Given the description of an element on the screen output the (x, y) to click on. 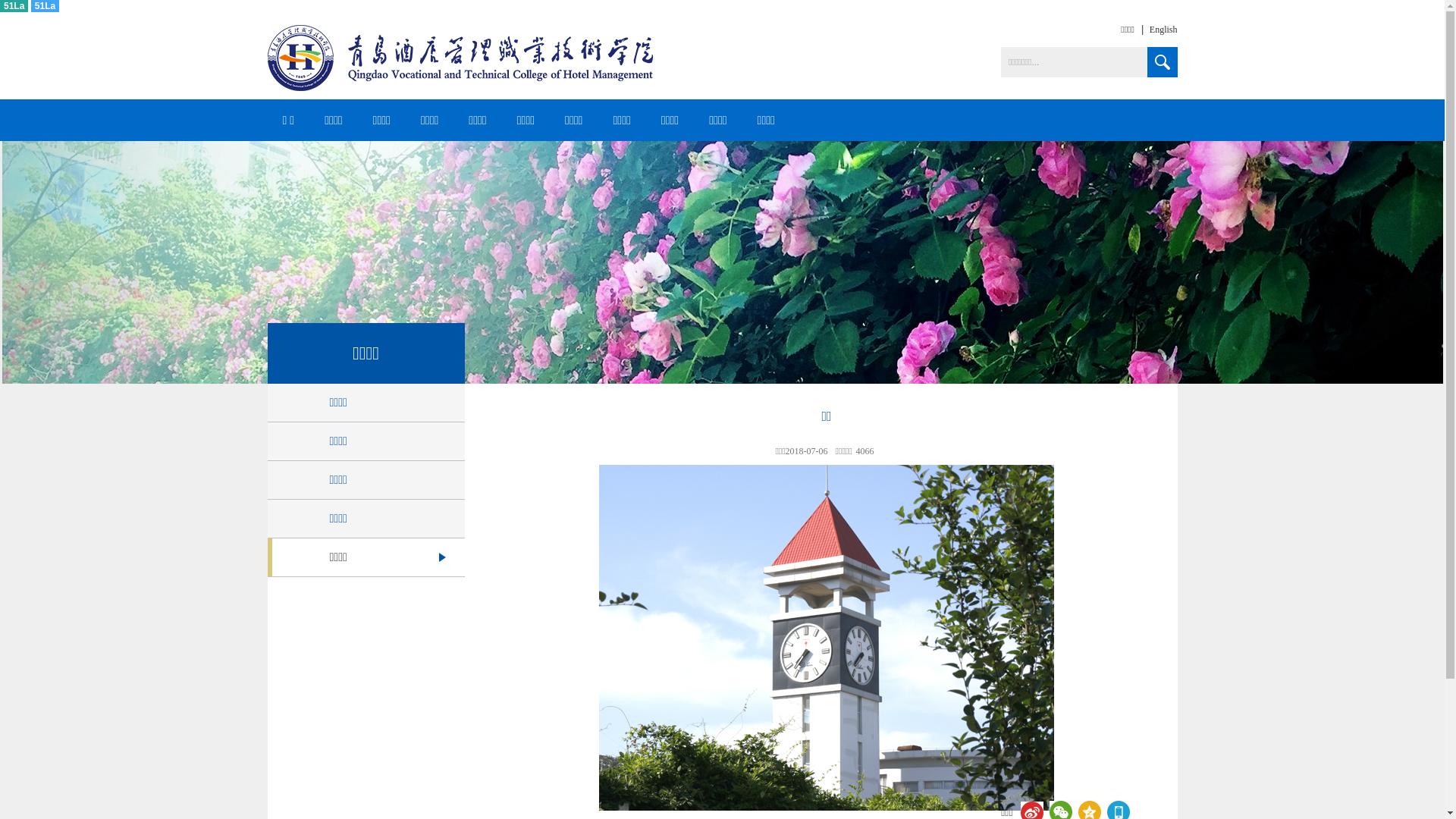
51La Element type: text (14, 5)
English Element type: text (1155, 29)
51La Element type: text (45, 5)
